Given the description of an element on the screen output the (x, y) to click on. 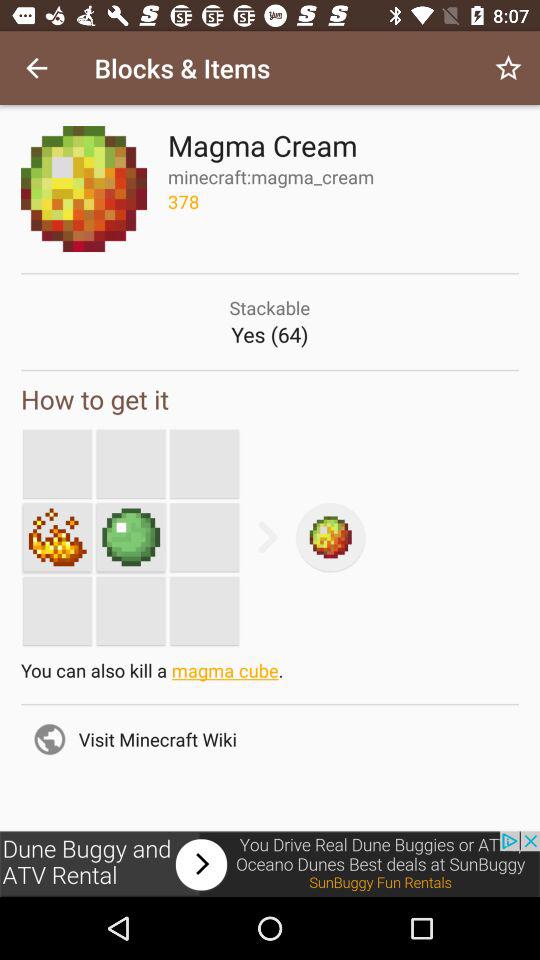
turn off the icon to the right of blocks & items icon (508, 67)
